Given the description of an element on the screen output the (x, y) to click on. 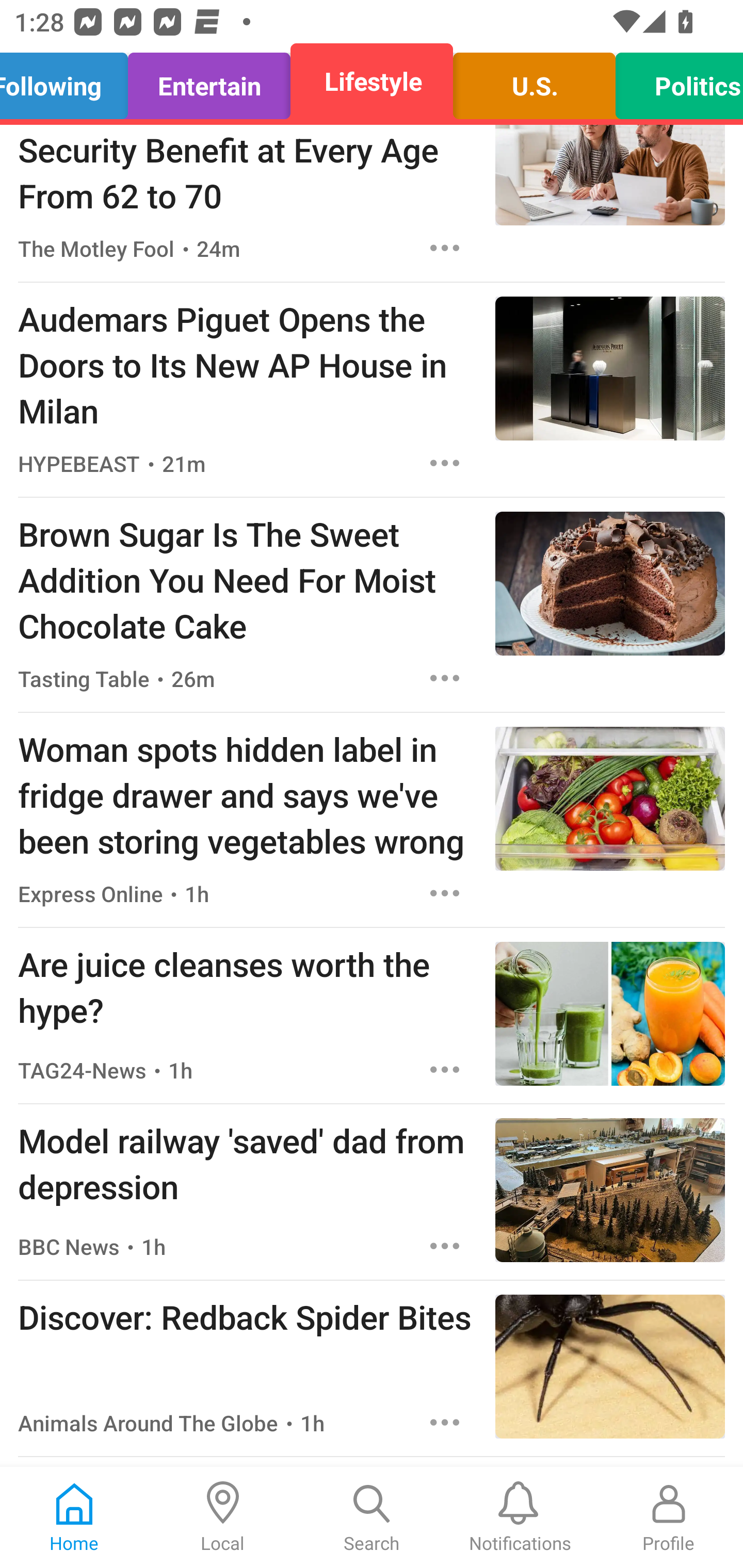
Entertain (209, 81)
Lifestyle (371, 81)
U.S. (534, 81)
Options (444, 247)
Options (444, 463)
Options (444, 677)
Options (444, 893)
Options (444, 1069)
Options (444, 1246)
Options (444, 1422)
Local (222, 1517)
Search (371, 1517)
Notifications (519, 1517)
Profile (668, 1517)
